Given the description of an element on the screen output the (x, y) to click on. 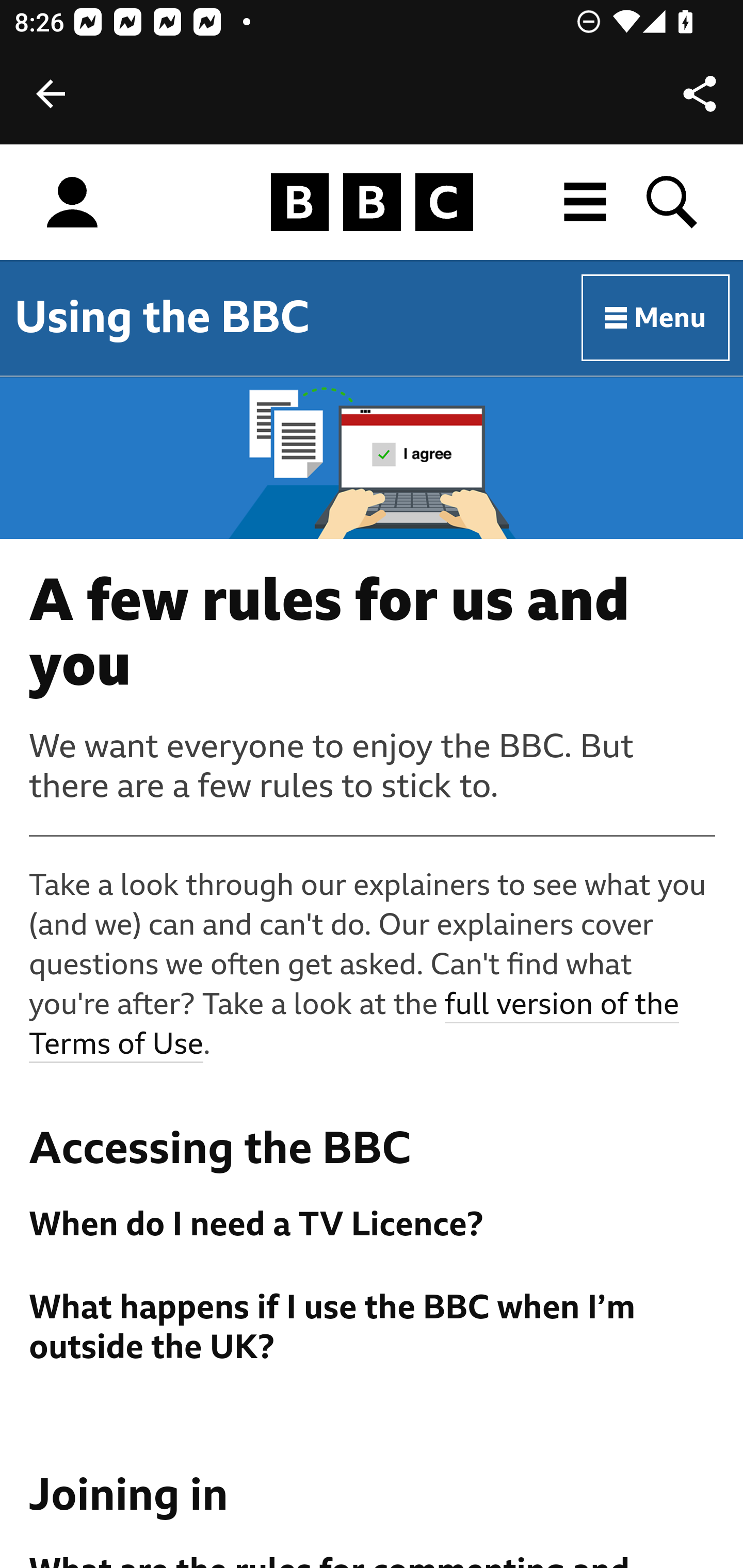
Back (50, 93)
Share (699, 93)
All BBC destinations menu (585, 202)
Search BBC (672, 202)
Sign in (71, 203)
Homepage (371, 203)
Menu (656, 318)
Using the BBC (162, 317)
full version of the Terms of Use (354, 1025)
When do I need a TV Licence? (372, 1224)
